Given the description of an element on the screen output the (x, y) to click on. 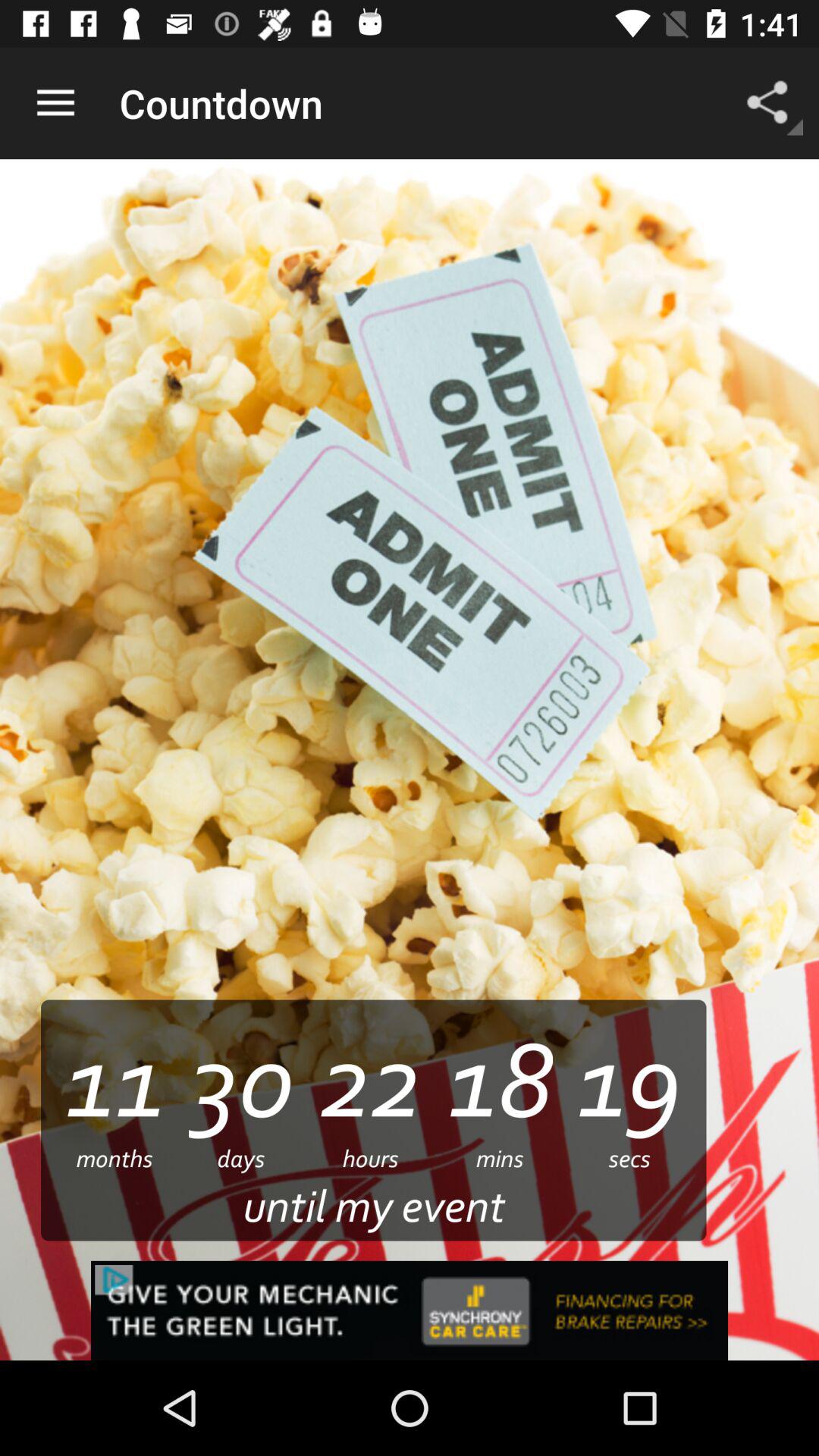
select app next to countdown icon (771, 103)
